Given the description of an element on the screen output the (x, y) to click on. 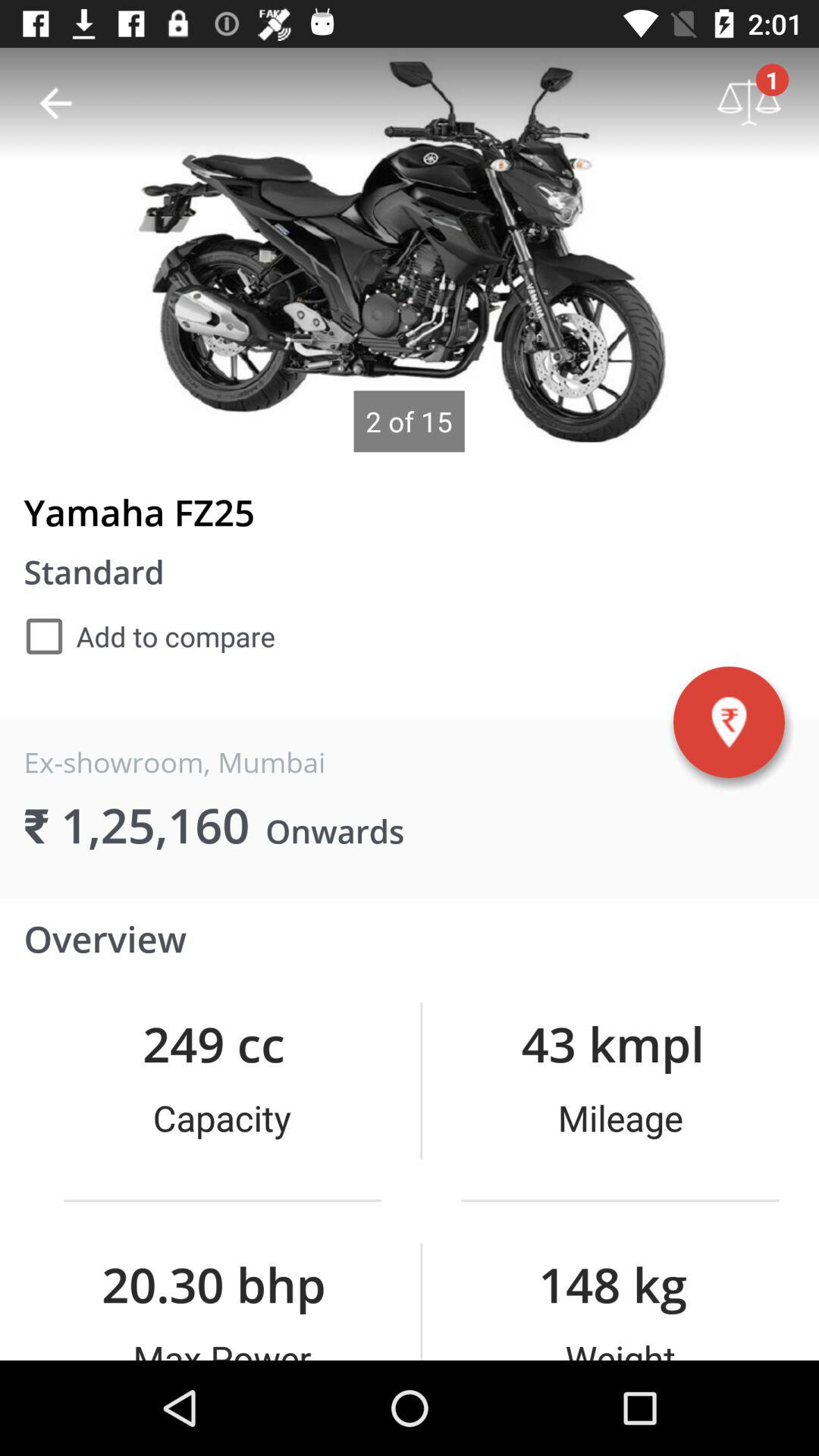
choose the item below yamaha fz25 (729, 722)
